Given the description of an element on the screen output the (x, y) to click on. 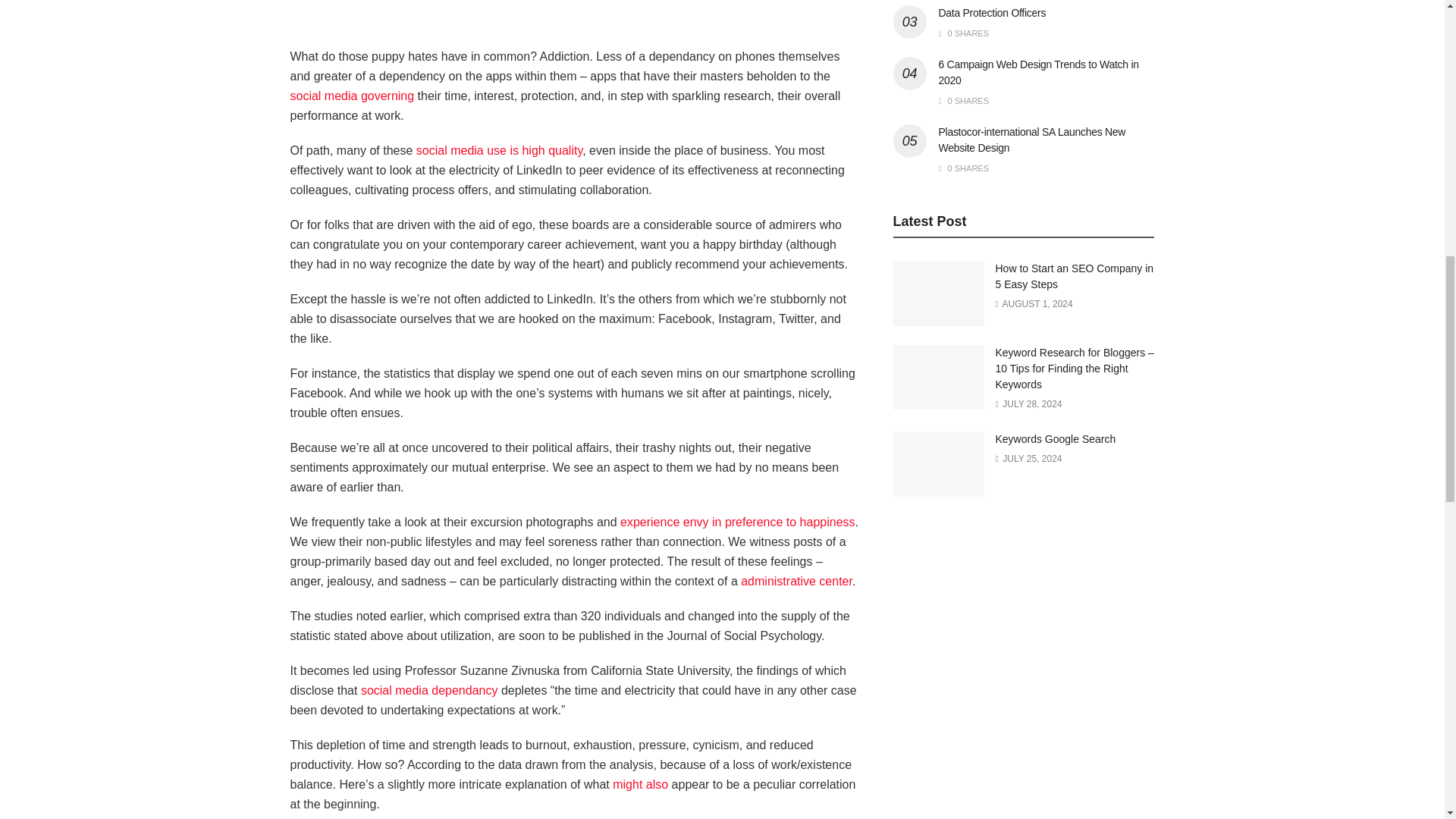
How social media ruins your productiveness 1 (574, 15)
